Given the description of an element on the screen output the (x, y) to click on. 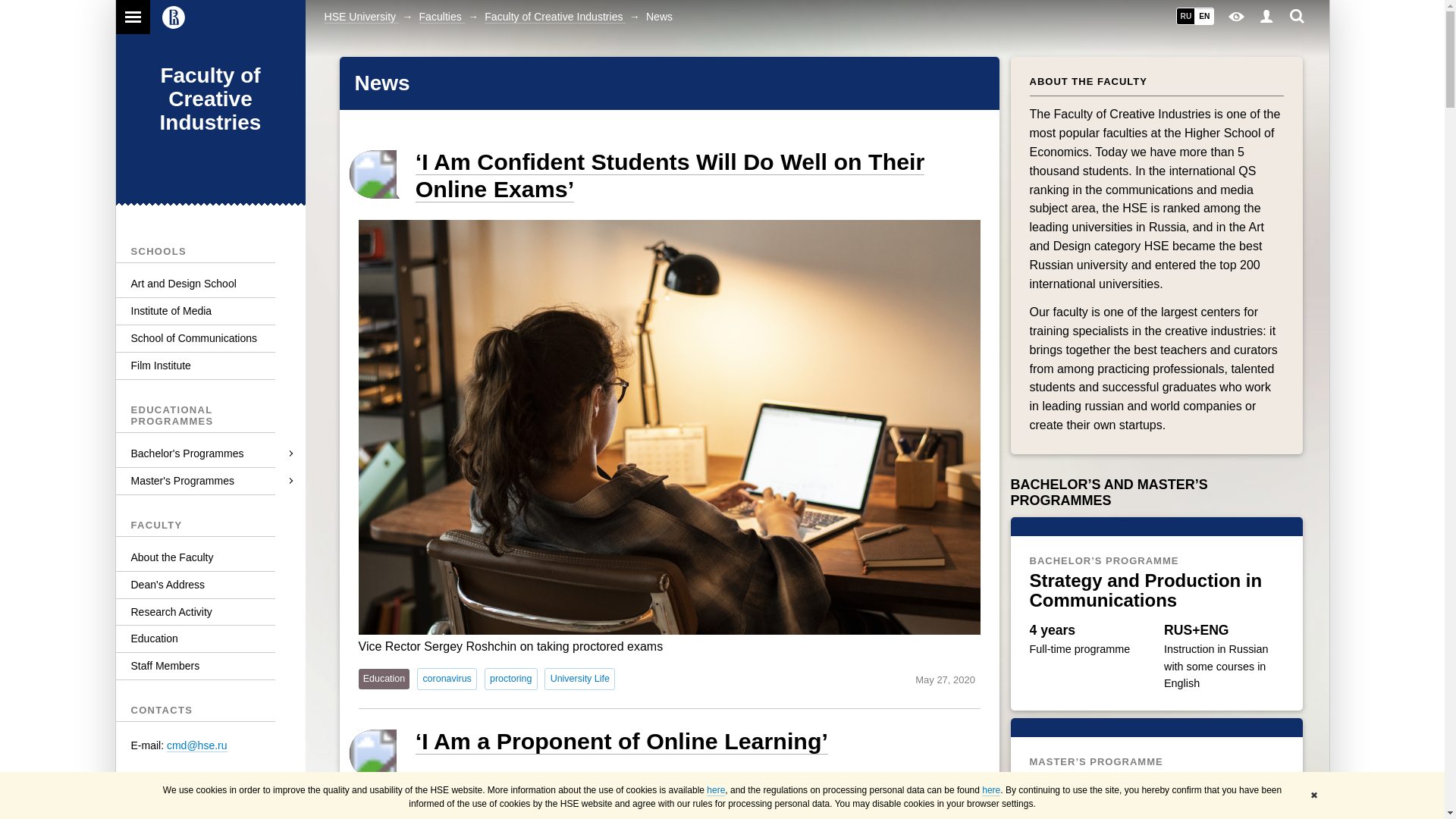
Film Institute (209, 365)
coronavirus (446, 679)
Faculties (441, 16)
University Life (579, 679)
here (715, 790)
RU (1184, 16)
Faculty of Creative Industries (211, 98)
here (990, 790)
HSE University (361, 16)
Faculty of Creative Industries (555, 16)
proctoring (510, 679)
Art and Design School (209, 284)
Institute of Media (209, 311)
School of Communications (209, 338)
